Given the description of an element on the screen output the (x, y) to click on. 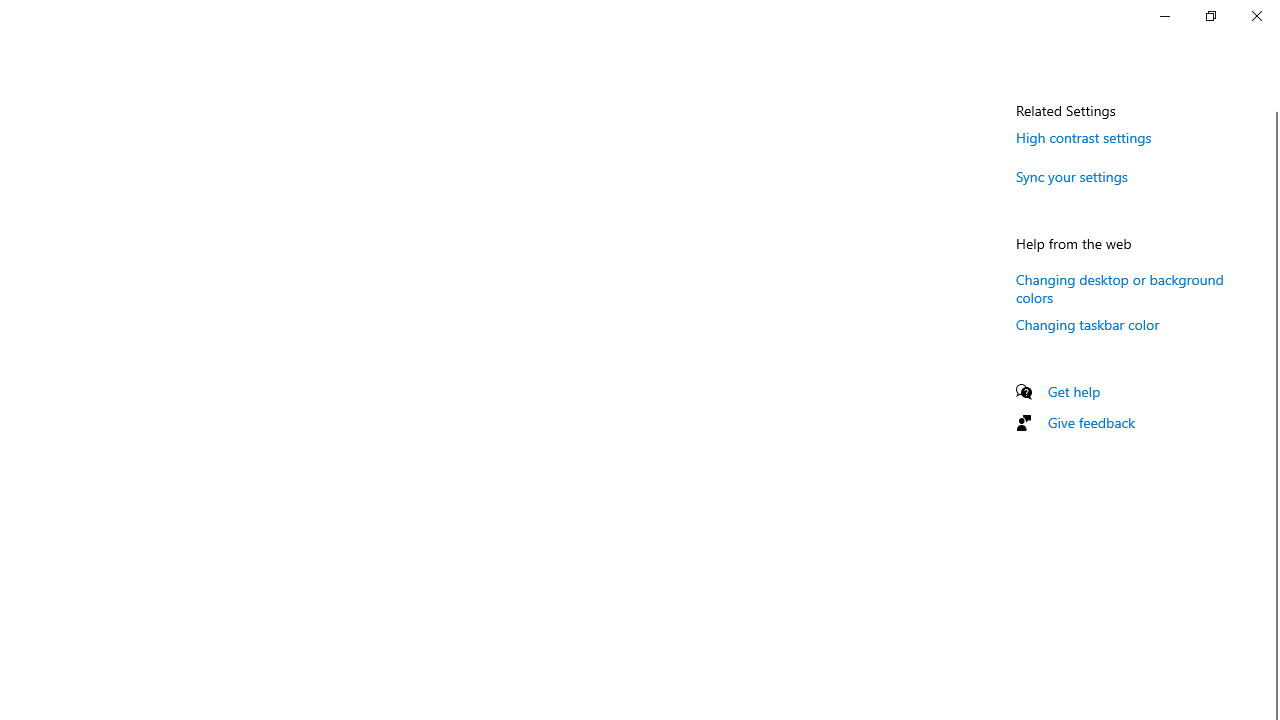
Vertical Small Decrease (1272, 103)
Sync your settings (1071, 176)
High contrast settings (1084, 137)
Changing taskbar color (1087, 324)
Changing desktop or background colors (1119, 287)
